Given the description of an element on the screen output the (x, y) to click on. 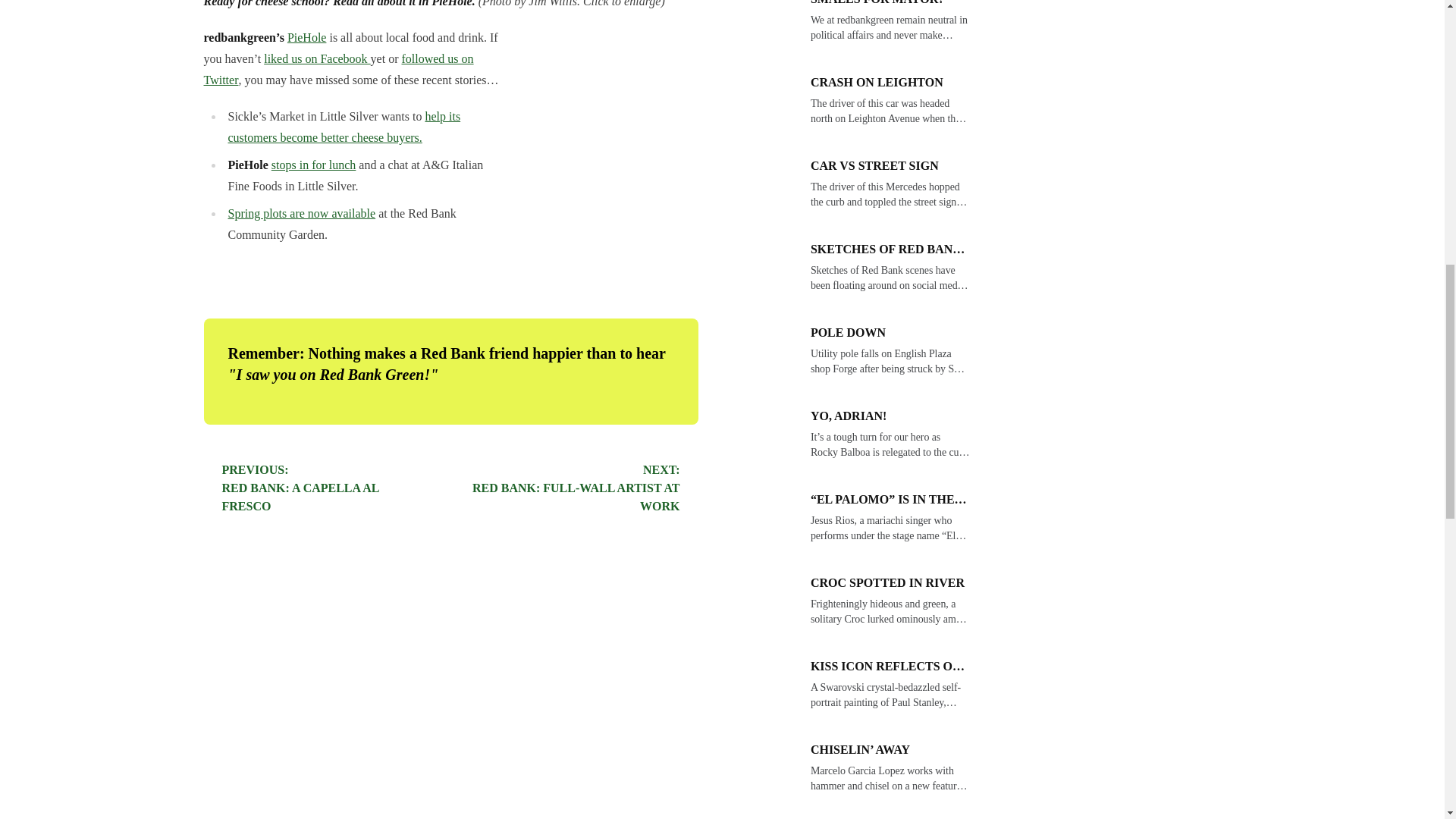
help its customers become better cheese buyers. (299, 487)
followed us on Twitter (343, 126)
liked us on Facebook (338, 69)
Spring plots are now available (575, 487)
stops in for lunch (316, 58)
PieHole (301, 213)
